Given the description of an element on the screen output the (x, y) to click on. 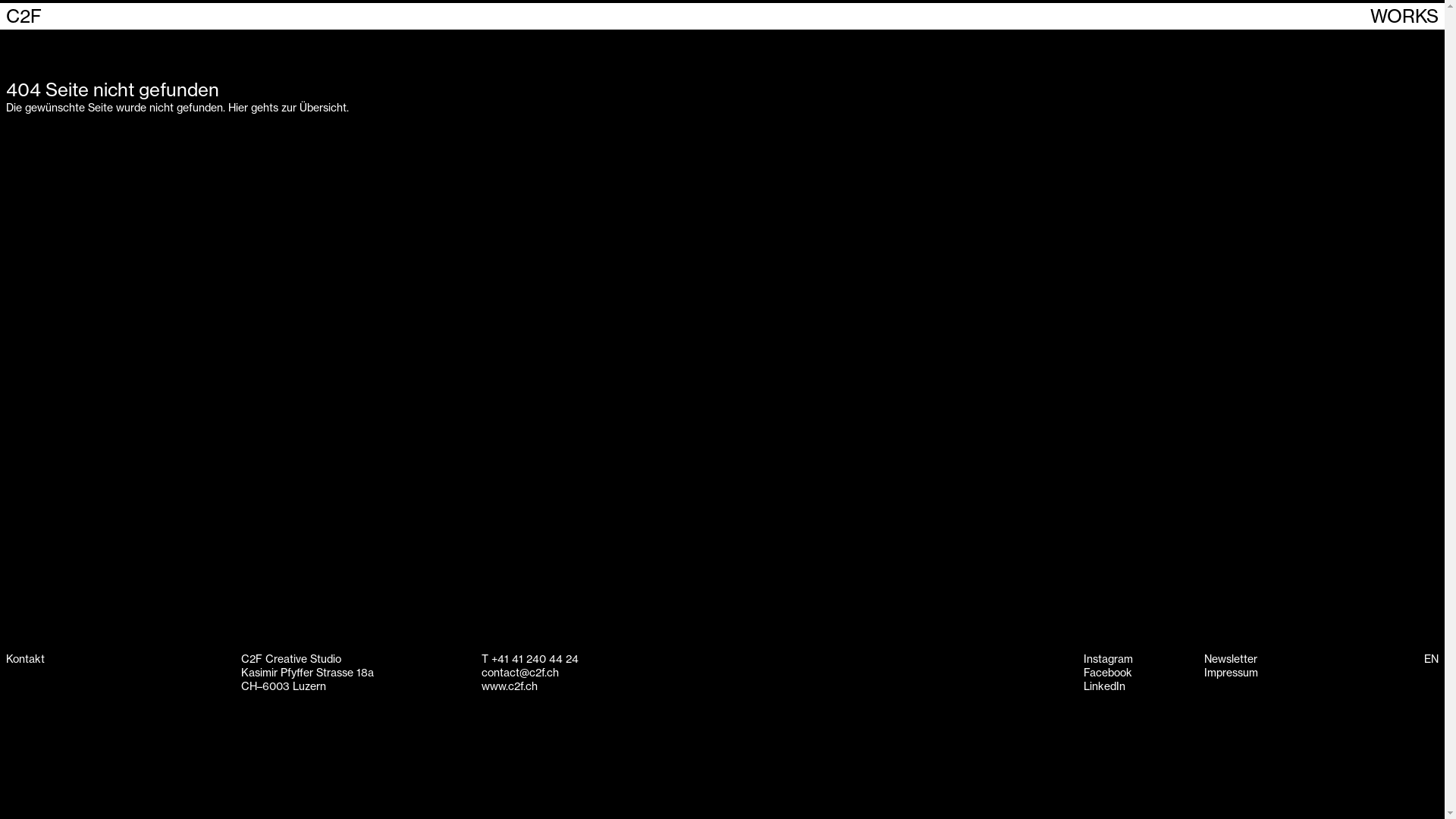
WORKS Element type: text (1404, 16)
Instagram Element type: text (1107, 658)
C2F Element type: text (23, 16)
EN Element type: text (1431, 658)
Facebook Element type: text (1107, 672)
LinkedIn Element type: text (1104, 686)
Impressum Element type: text (1231, 672)
Newsletter Element type: text (1230, 658)
